Given the description of an element on the screen output the (x, y) to click on. 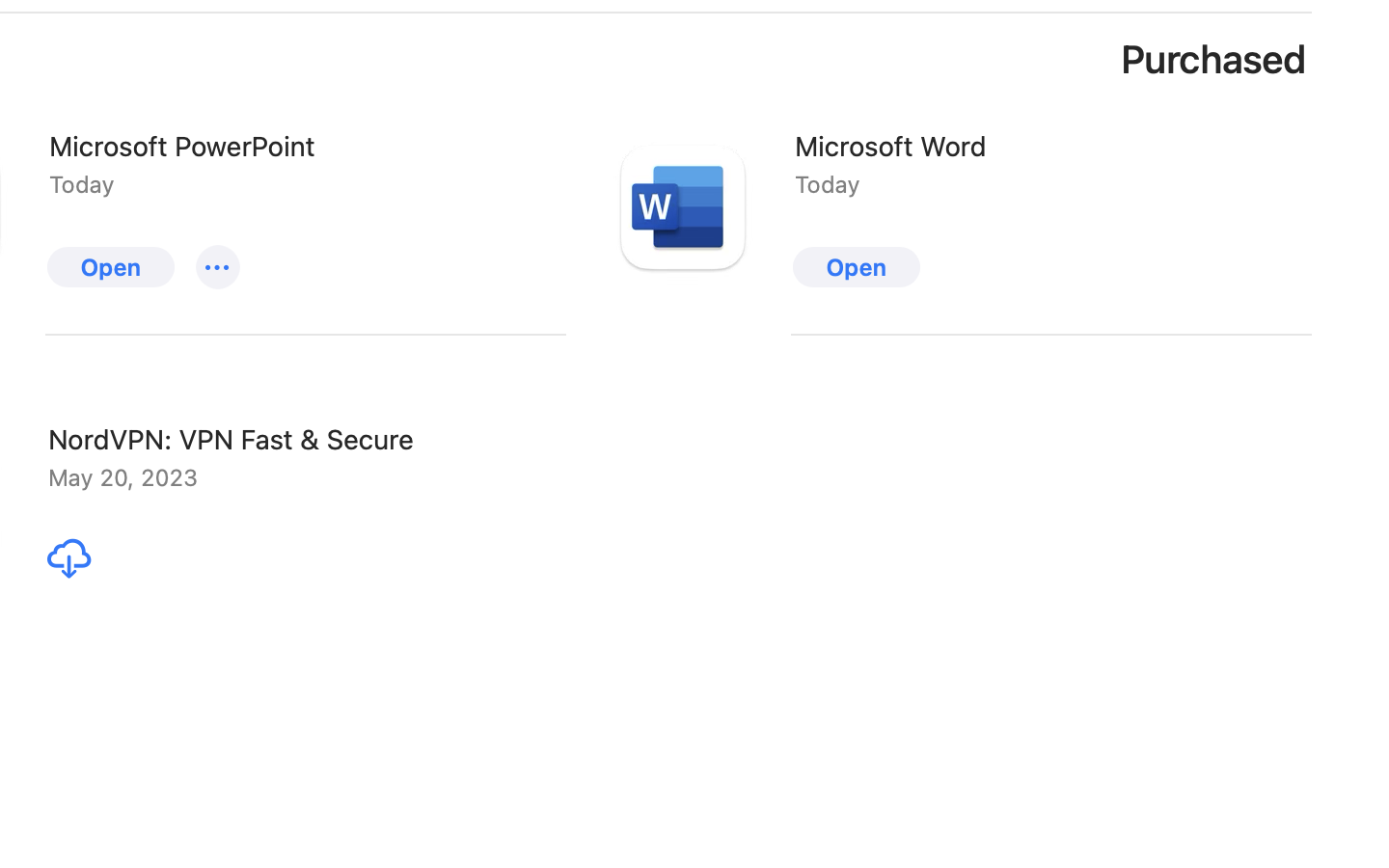
Purchased Element type: AXStaticText (1213, 59)
